Given the description of an element on the screen output the (x, y) to click on. 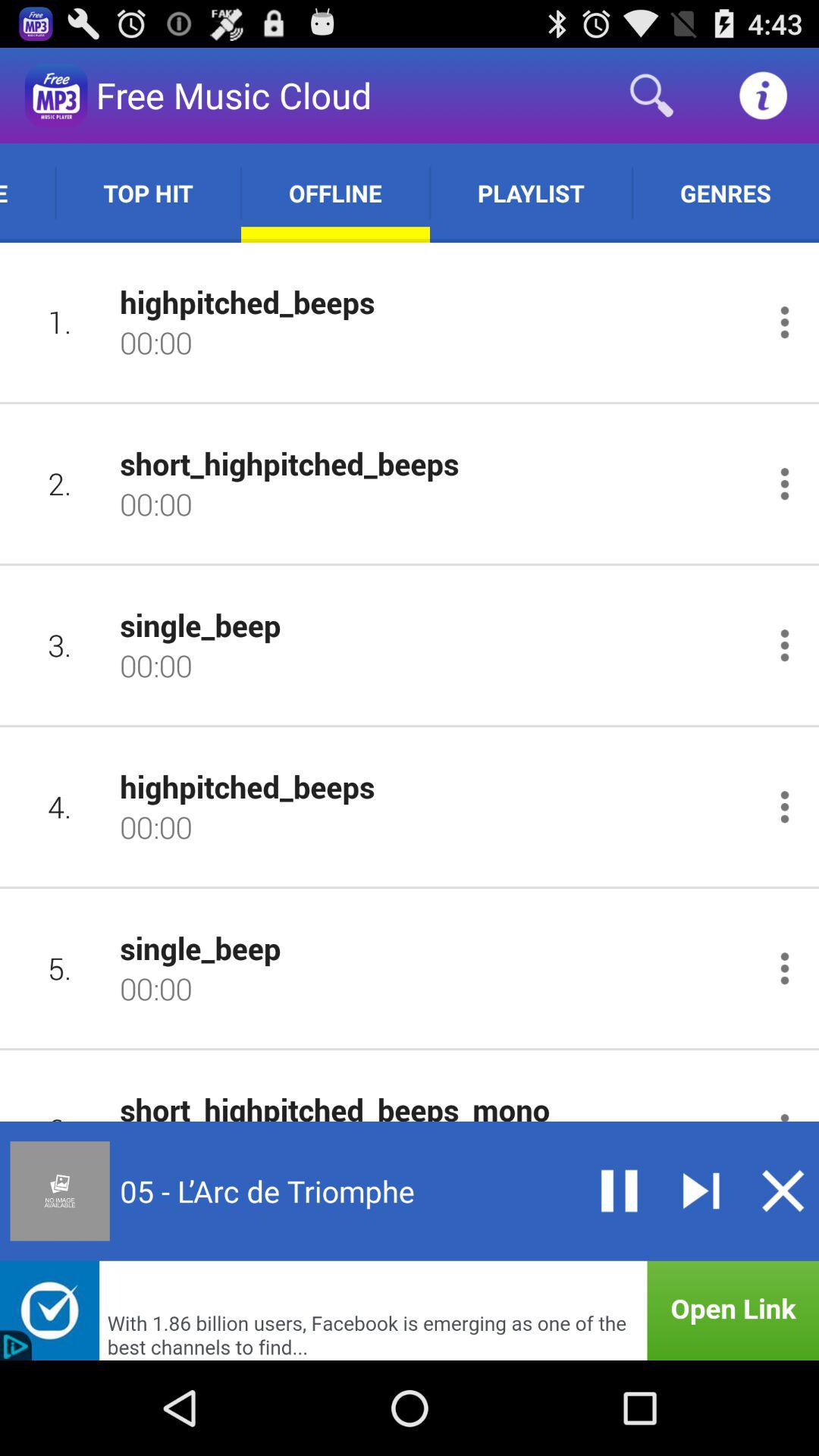
flip to top hit app (148, 192)
